Given the description of an element on the screen output the (x, y) to click on. 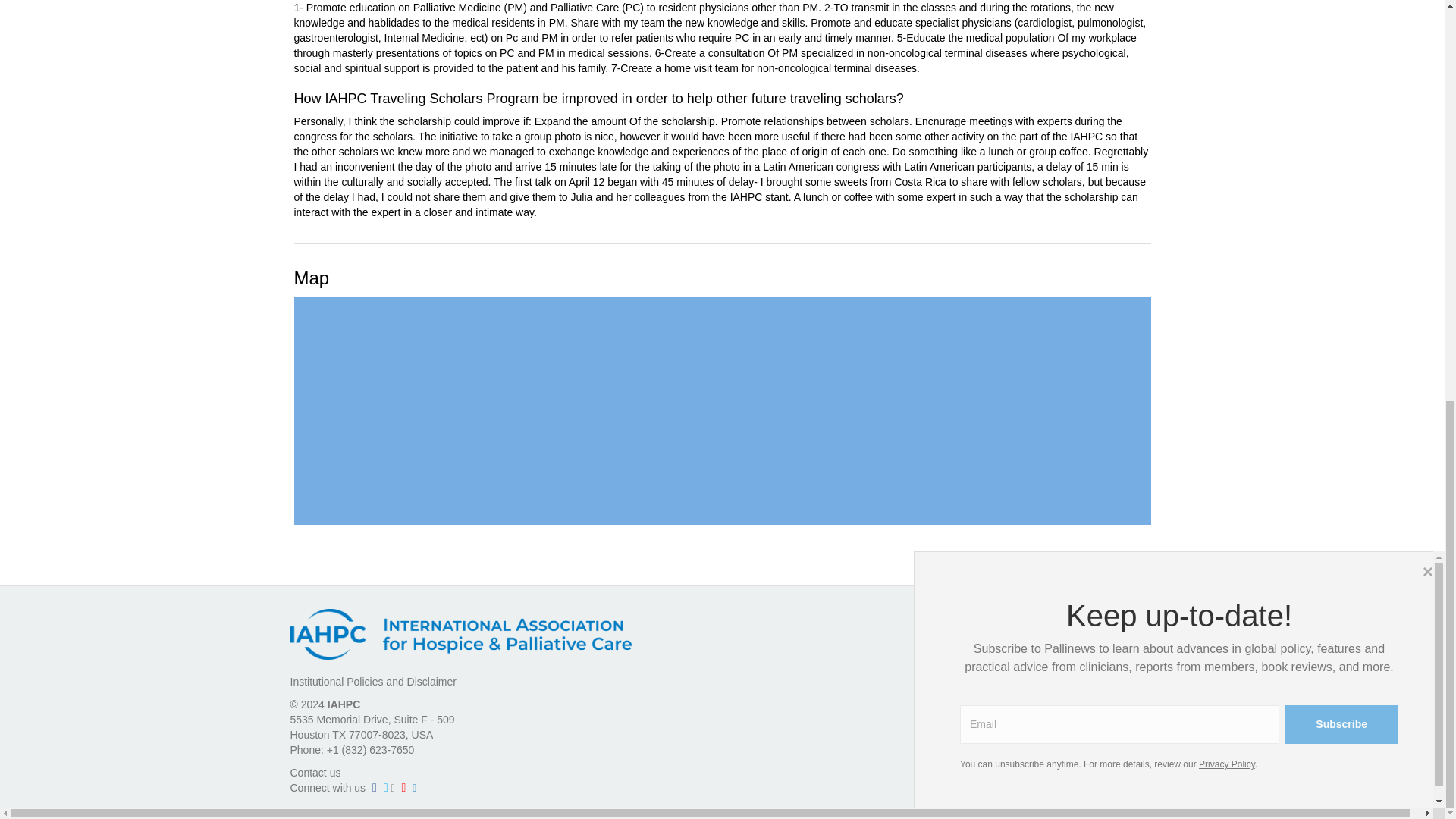
2021 Top-rated nonprofits and charities (1125, 750)
